Given the description of an element on the screen output the (x, y) to click on. 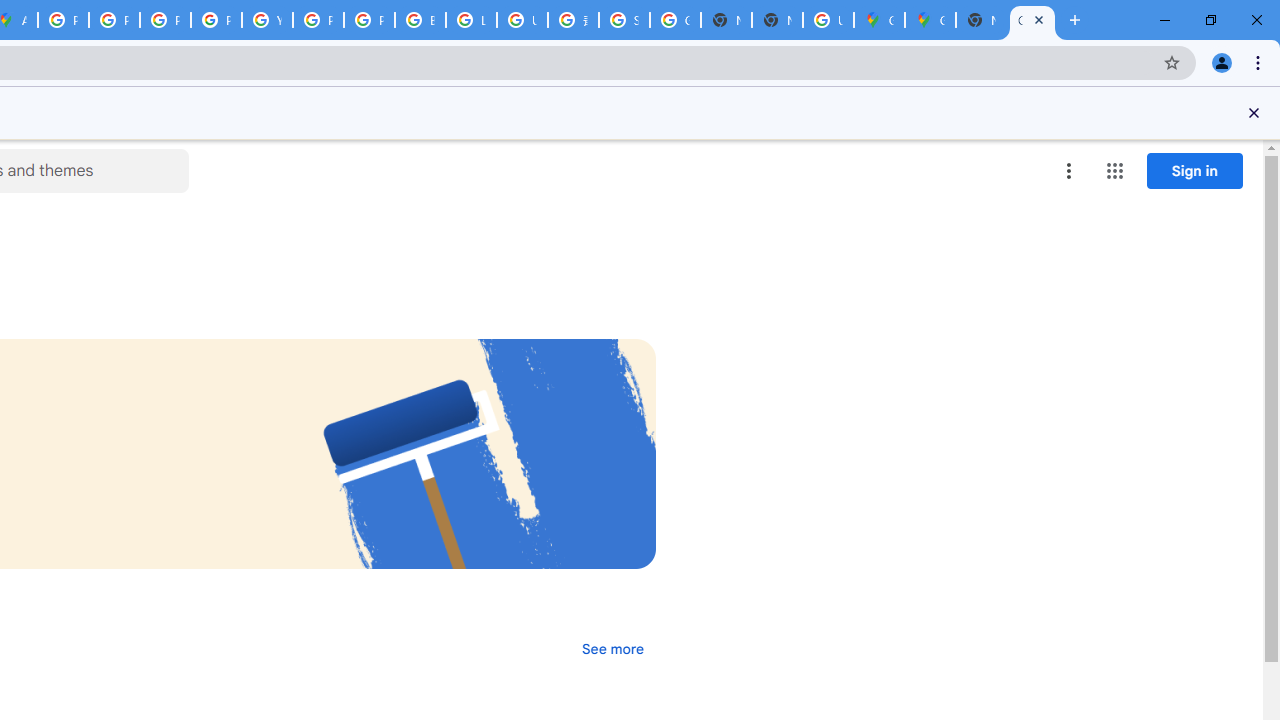
Browse Chrome as a guest - Computer - Google Chrome Help (420, 20)
Google Maps (930, 20)
Chrome Web Store - Themes (1032, 20)
Privacy Help Center - Policies Help (164, 20)
See more of the "Dark & black themes" collection (612, 648)
